Given the description of an element on the screen output the (x, y) to click on. 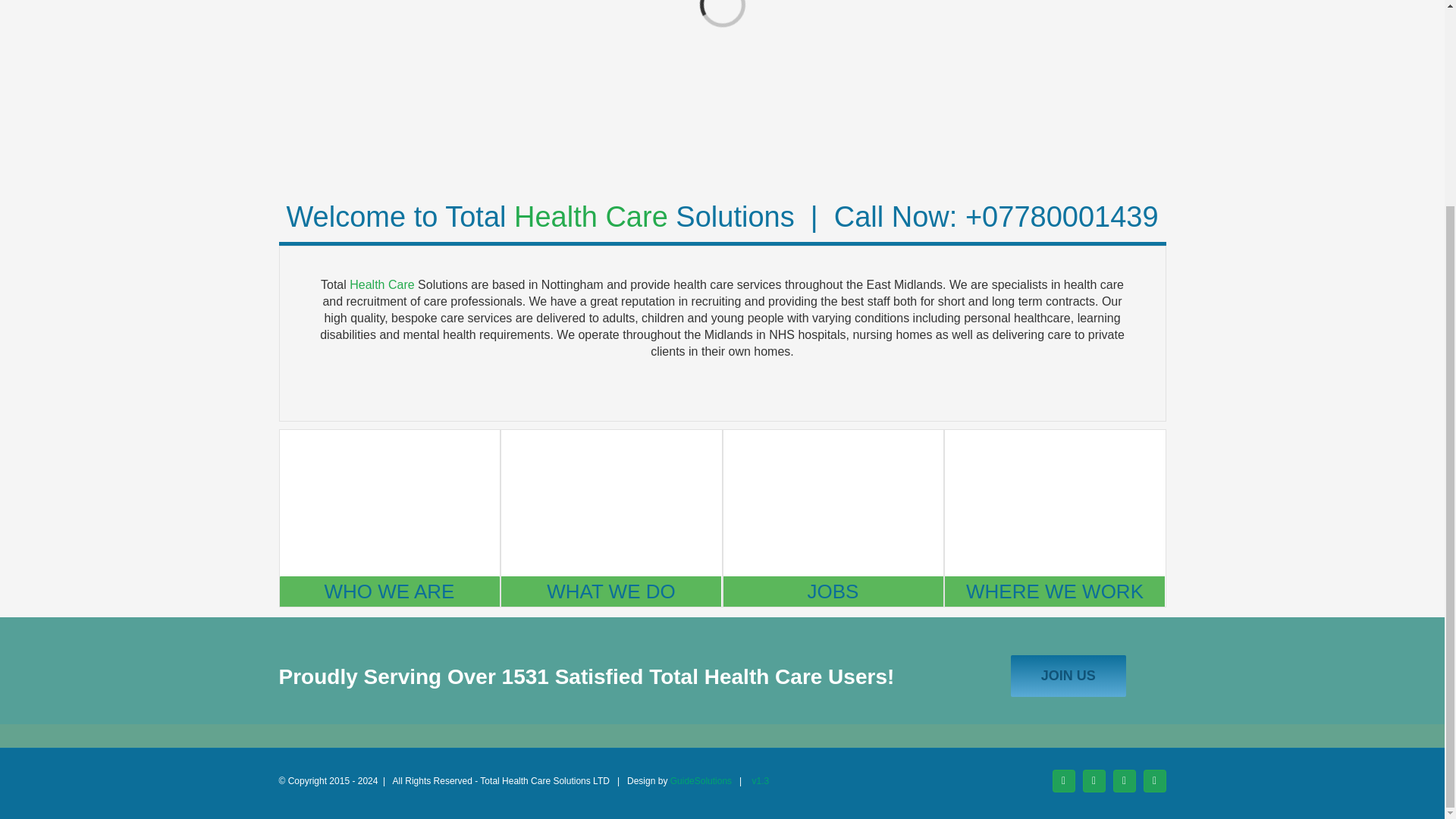
WHO WE ARE (389, 591)
WHERE WE WORK (1054, 591)
v1.3 (761, 780)
LinkedIn (1154, 780)
Twitter (1094, 780)
Facebook (1063, 780)
JOIN US (1067, 675)
LinkedIn (1154, 780)
Facebook (1063, 780)
Twitter (1094, 780)
